Given the description of an element on the screen output the (x, y) to click on. 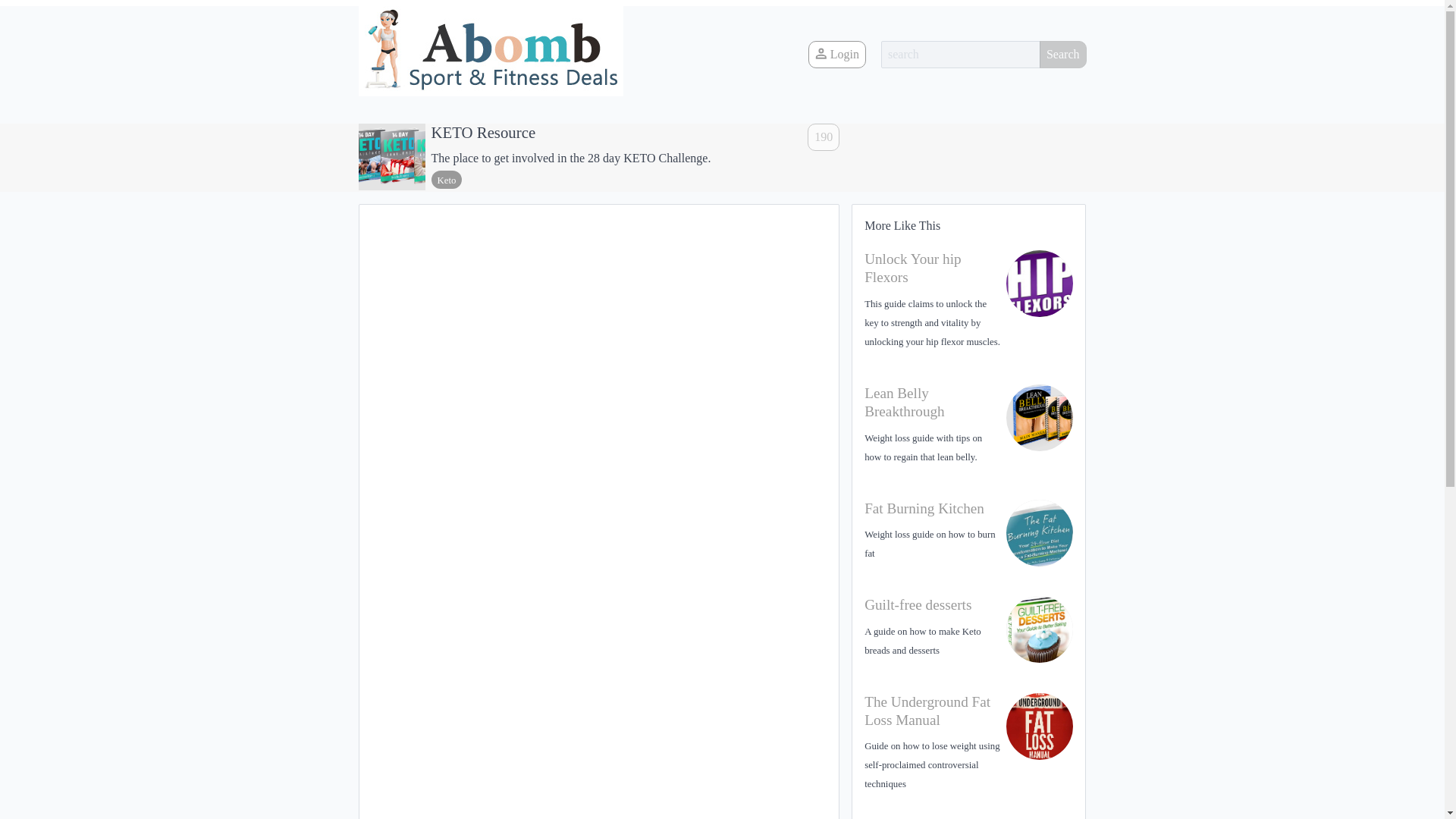
190 (824, 136)
Search (1062, 53)
The Underground Fat Loss Manual (927, 710)
Fat Burning Kitchen (924, 508)
Guilt-free desserts (917, 604)
Login (837, 53)
Unlock Your hip Flexors (912, 267)
Lean Belly Breakthrough (904, 401)
